Given the description of an element on the screen output the (x, y) to click on. 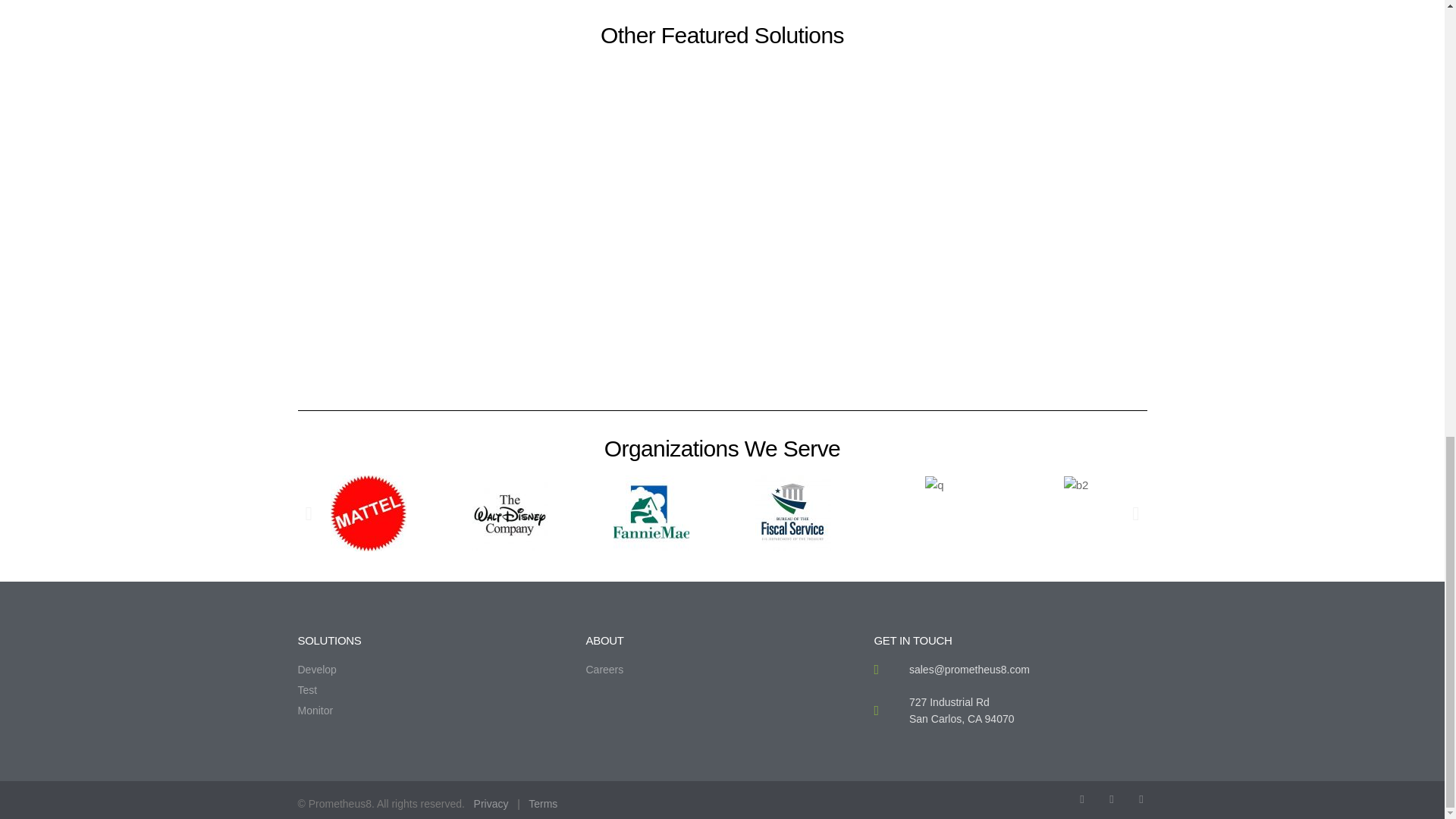
Test (433, 689)
ABOUT (604, 640)
Terms (542, 803)
Privacy (491, 803)
Monitor (433, 710)
Careers (722, 669)
Develop (433, 669)
SOLUTIONS (329, 640)
